Given the description of an element on the screen output the (x, y) to click on. 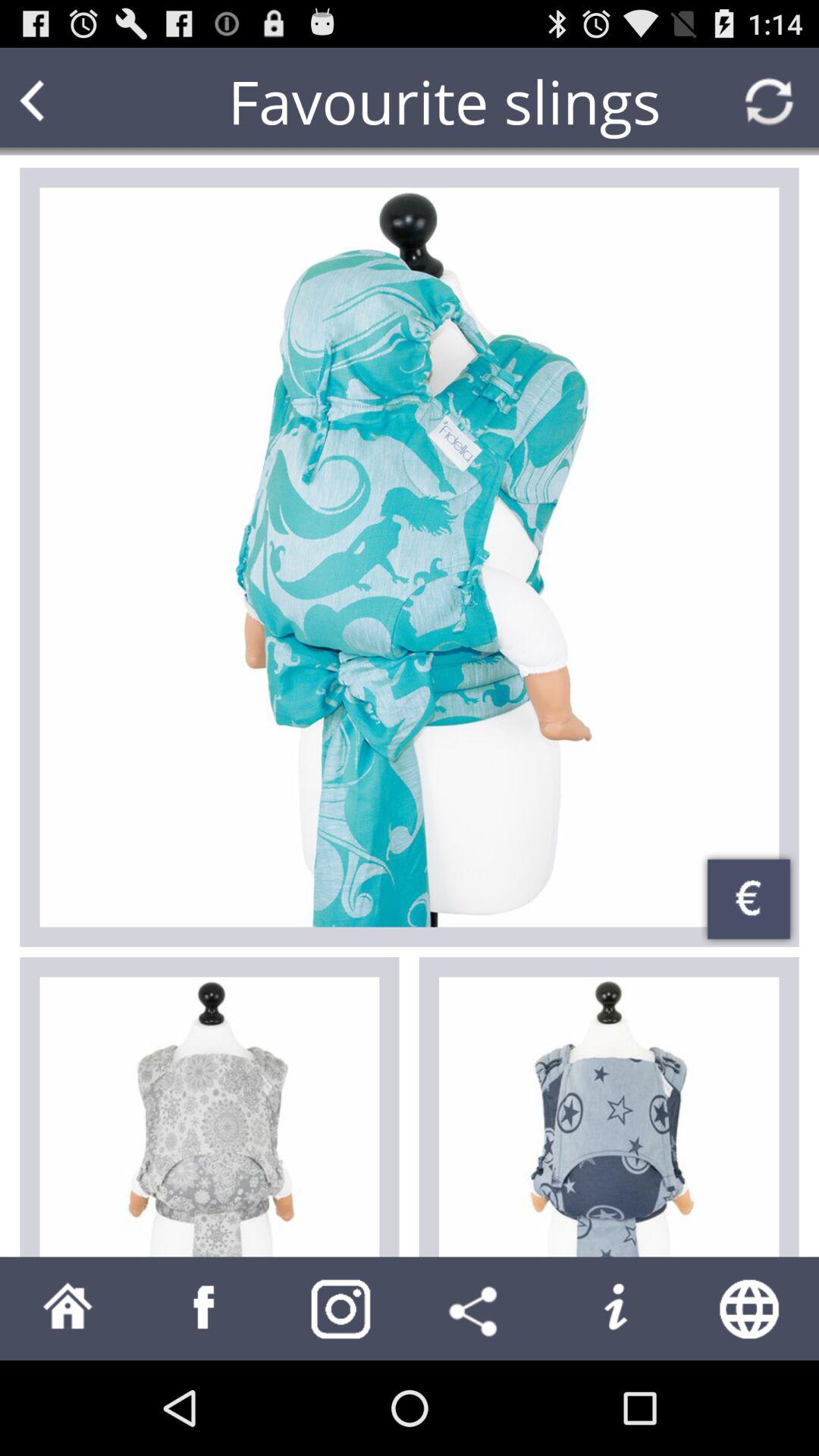
app link (204, 1308)
